Given the description of an element on the screen output the (x, y) to click on. 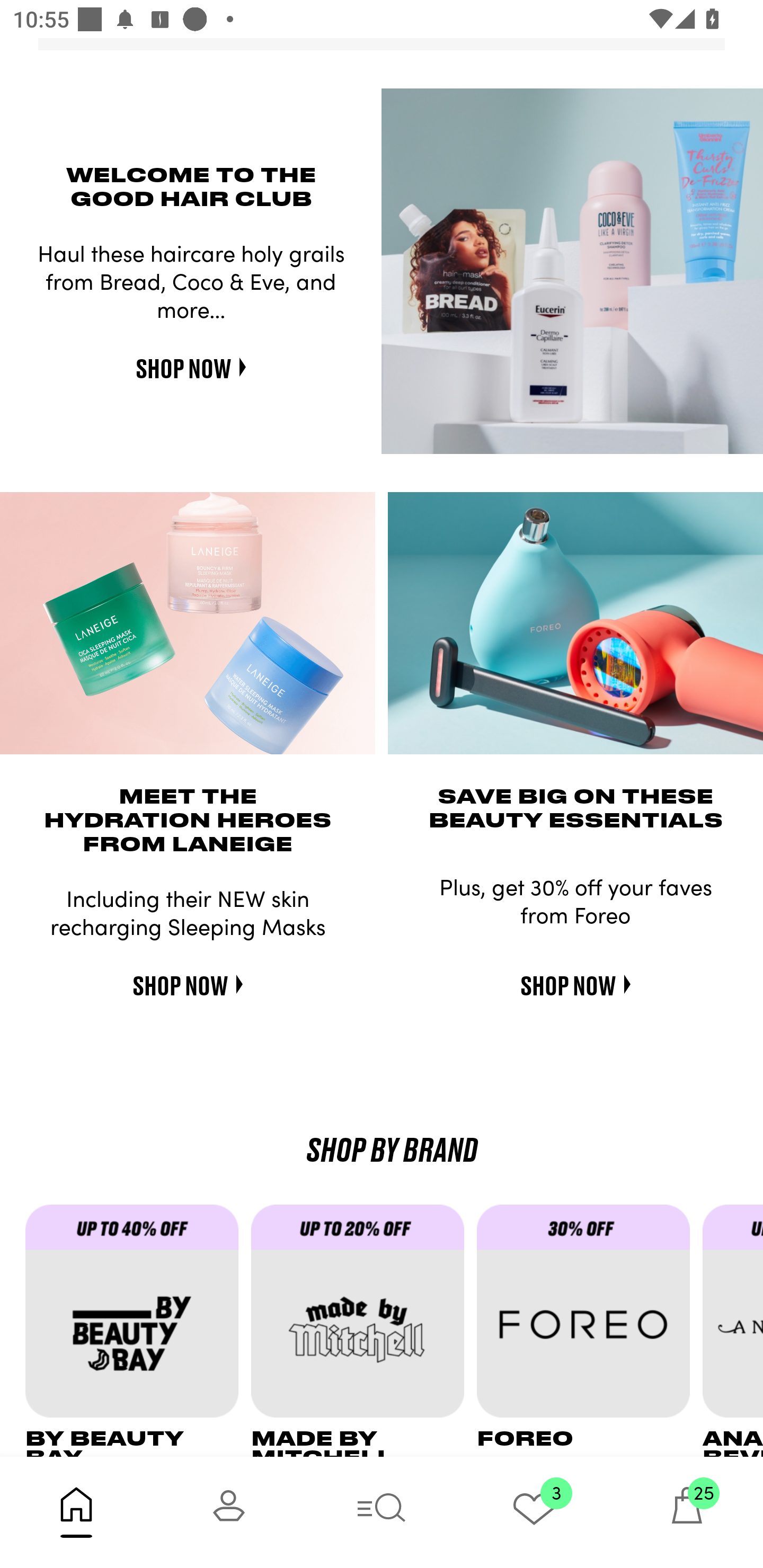
BY BEAUTY BAY (138, 1330)
MADE BY MITCHELL (363, 1330)
FOREO (589, 1330)
3 (533, 1512)
25 (686, 1512)
